Given the description of an element on the screen output the (x, y) to click on. 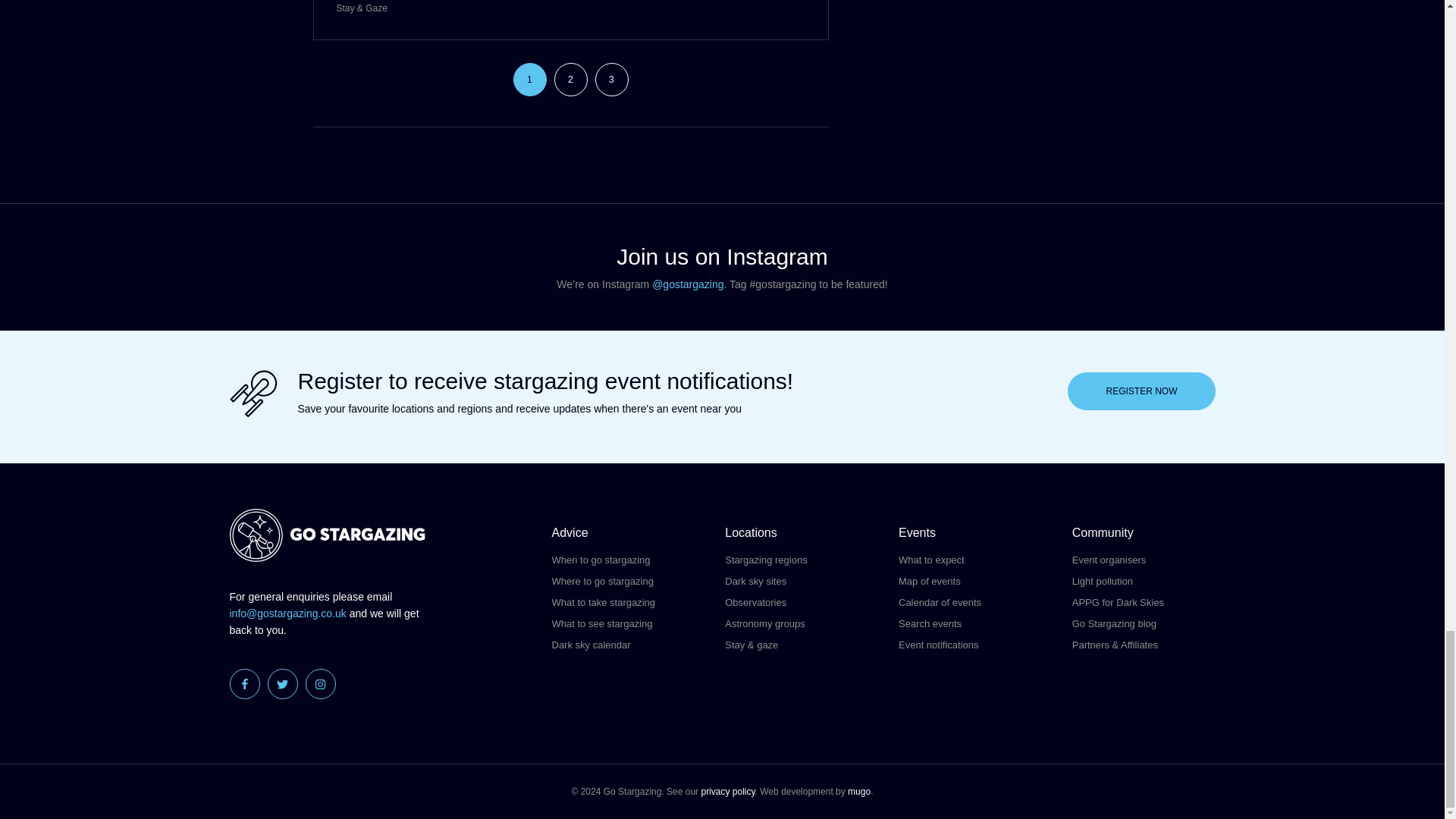
Website by Mugo Agency (858, 791)
